Given the description of an element on the screen output the (x, y) to click on. 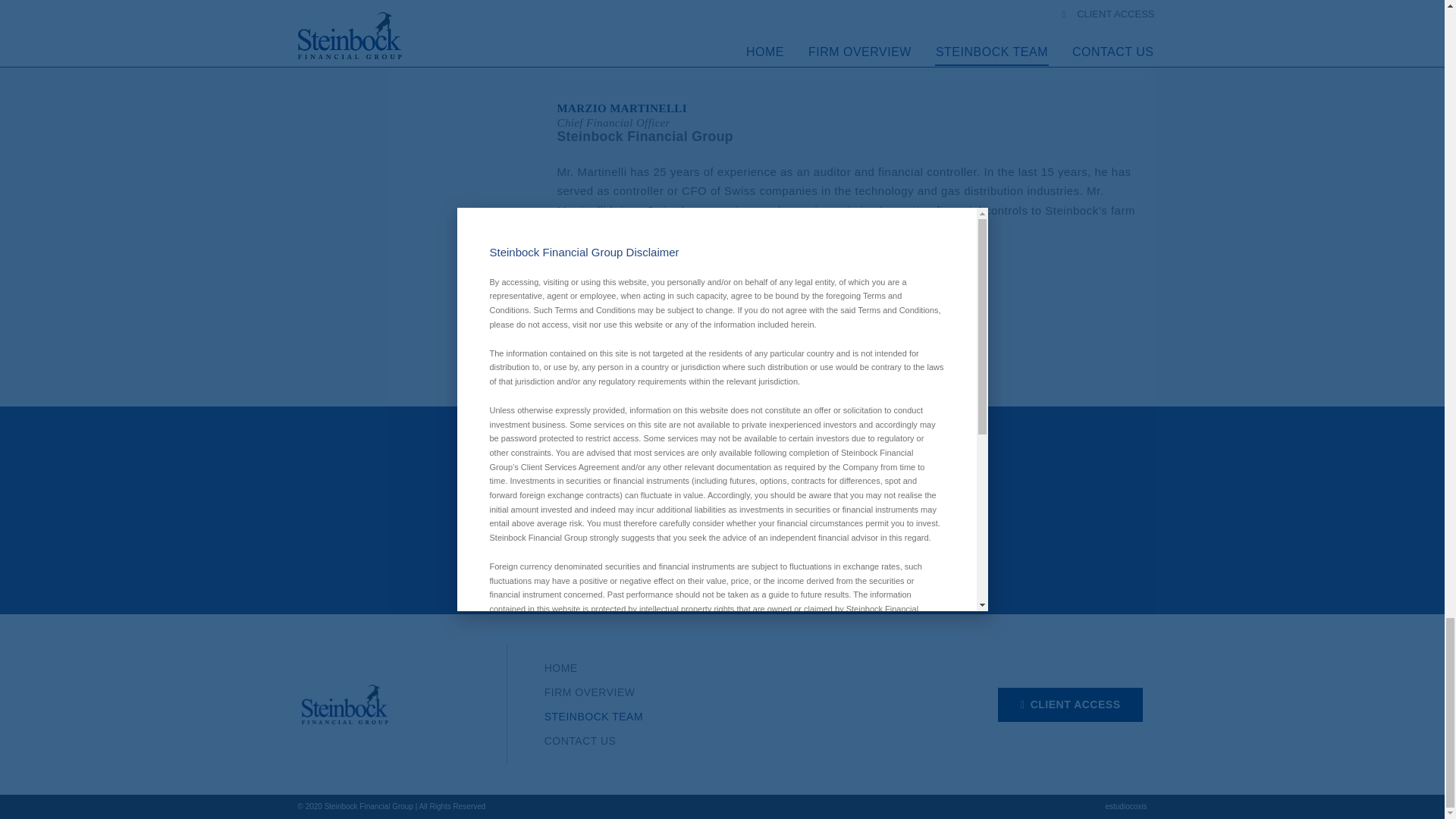
FIRM OVERVIEW (735, 692)
STEINBOCK TEAM (735, 716)
HOME (735, 668)
SUBSCRIBE (812, 535)
estudiocoxis (1126, 806)
CLIENT ACCESS (1069, 704)
CONTACT US (735, 740)
